Given the description of an element on the screen output the (x, y) to click on. 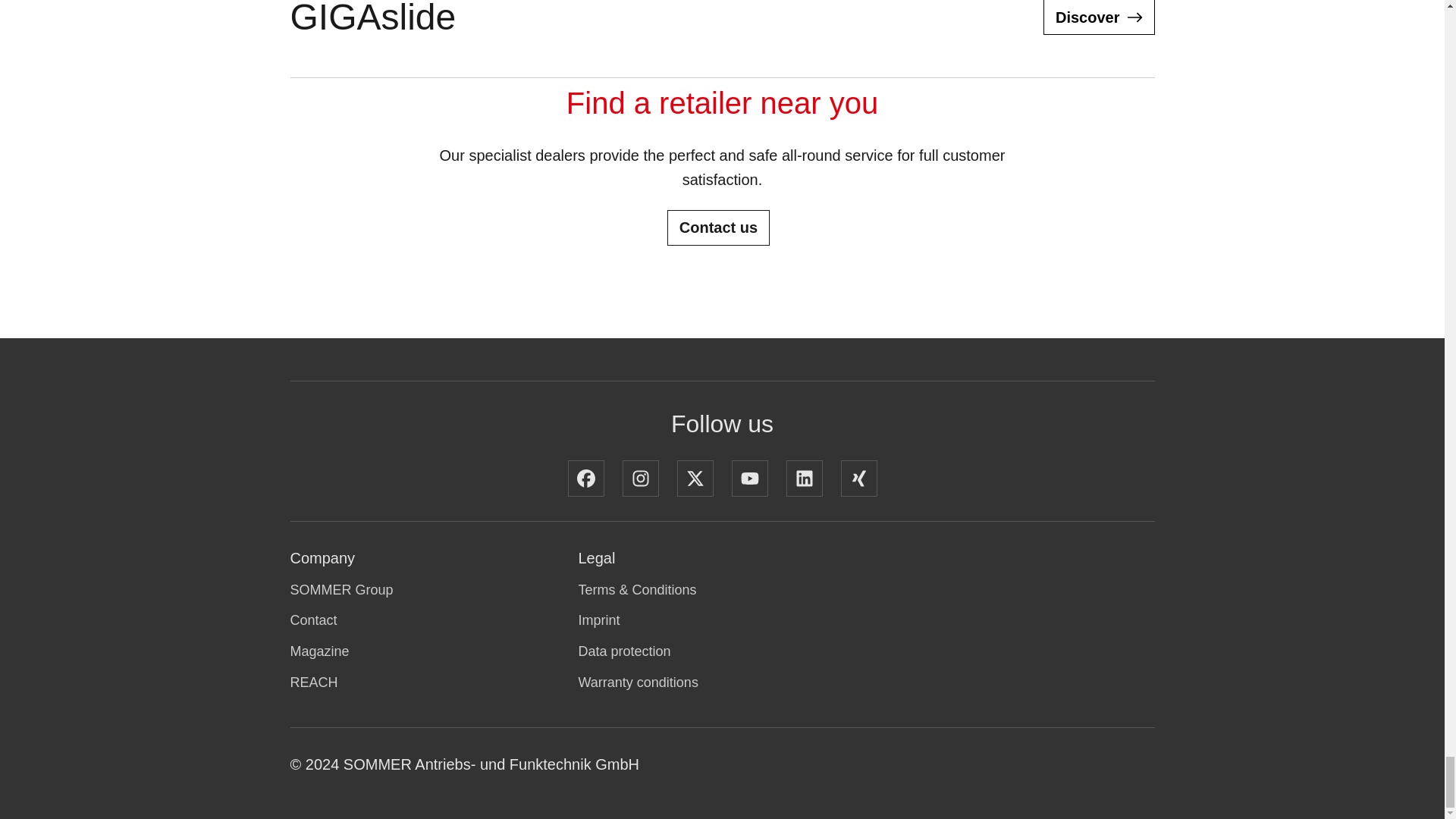
linkedin (804, 478)
xing (858, 478)
facebook (585, 478)
youtube (748, 478)
twitter (695, 478)
instagram (639, 478)
